Given the description of an element on the screen output the (x, y) to click on. 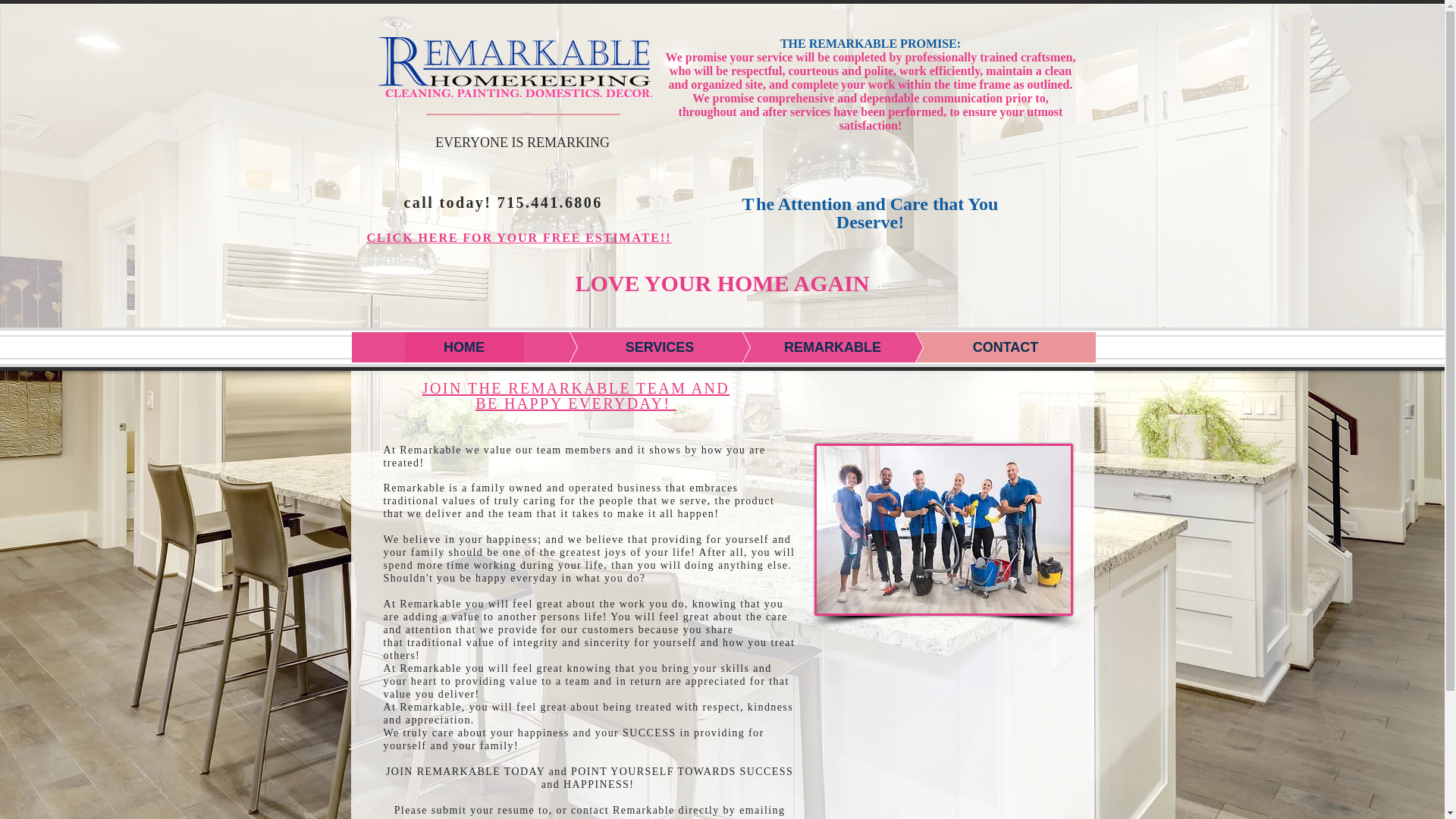
call today! 715.441.6806 (502, 202)
REMARKABLE (810, 347)
EVERYONE IS REMARKING (522, 142)
HOME (464, 347)
CONTACT (983, 347)
CLICK HERE FOR YOUR FREE ESTIMATE!! (518, 237)
T (748, 203)
SERVICES (636, 347)
